Given the description of an element on the screen output the (x, y) to click on. 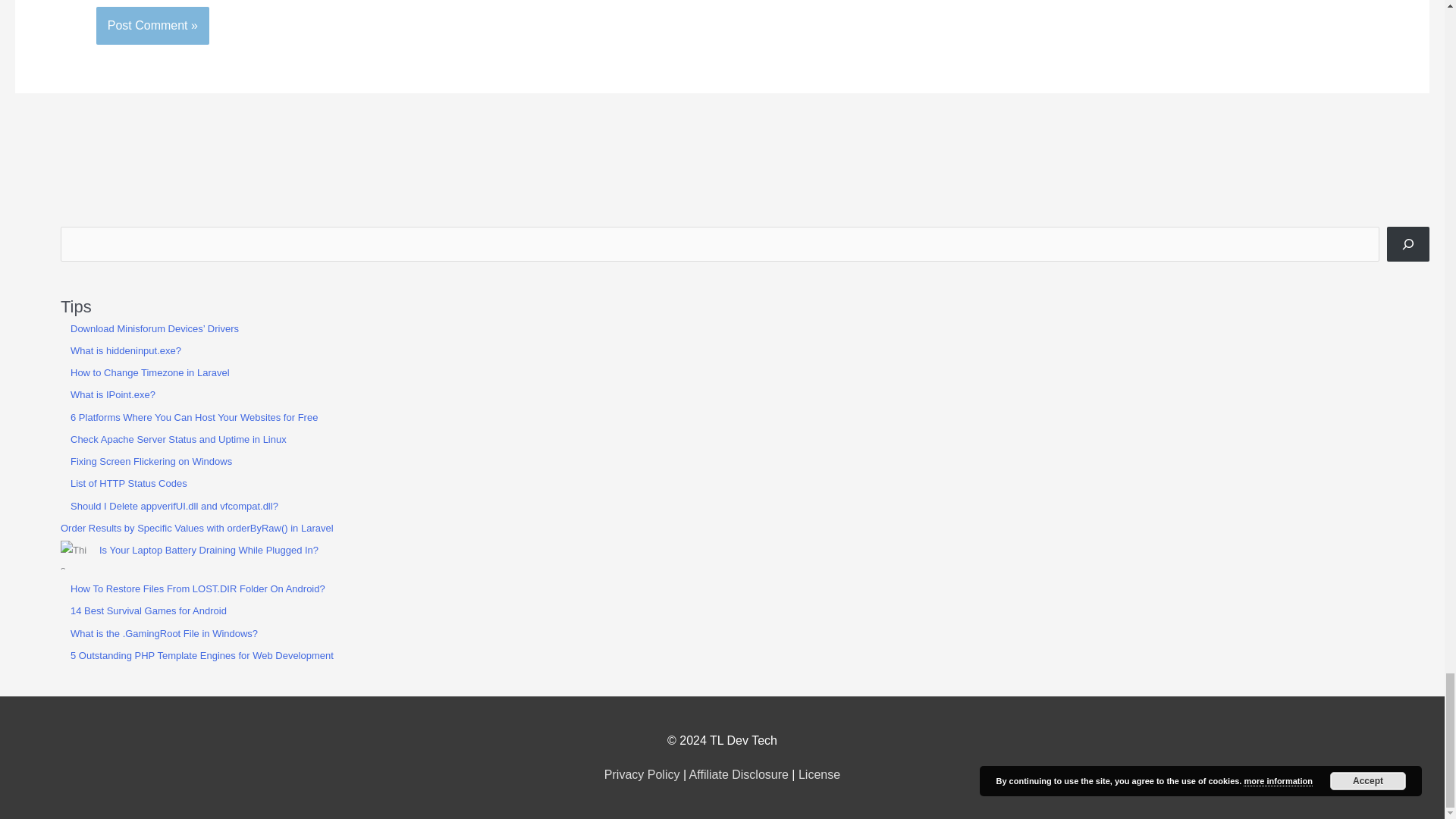
How to Change Timezone in Laravel (149, 372)
What is hiddeninput.exe? (124, 350)
